Given the description of an element on the screen output the (x, y) to click on. 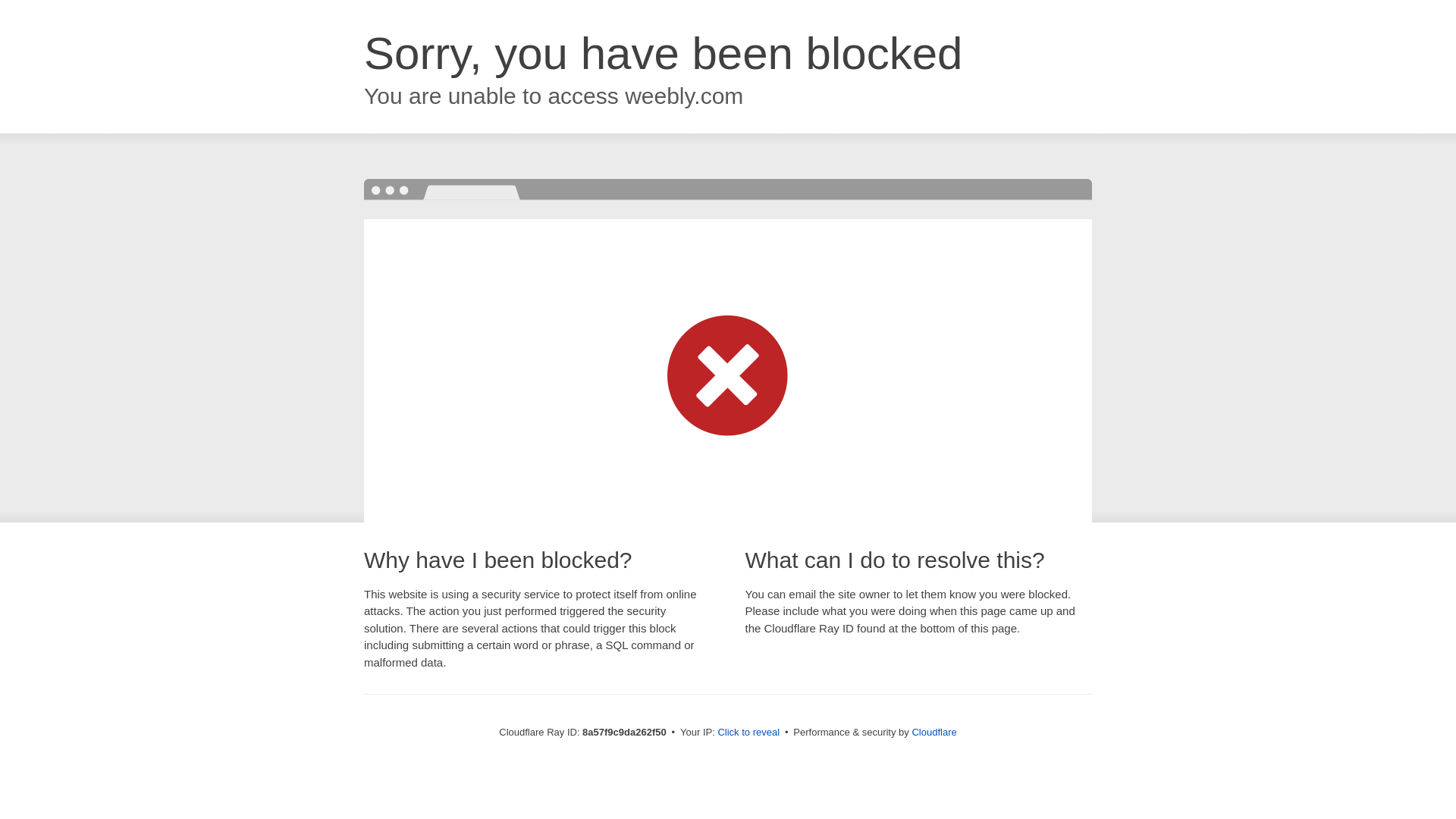
Cloudflare (933, 731)
Click to reveal (747, 732)
